Given the description of an element on the screen output the (x, y) to click on. 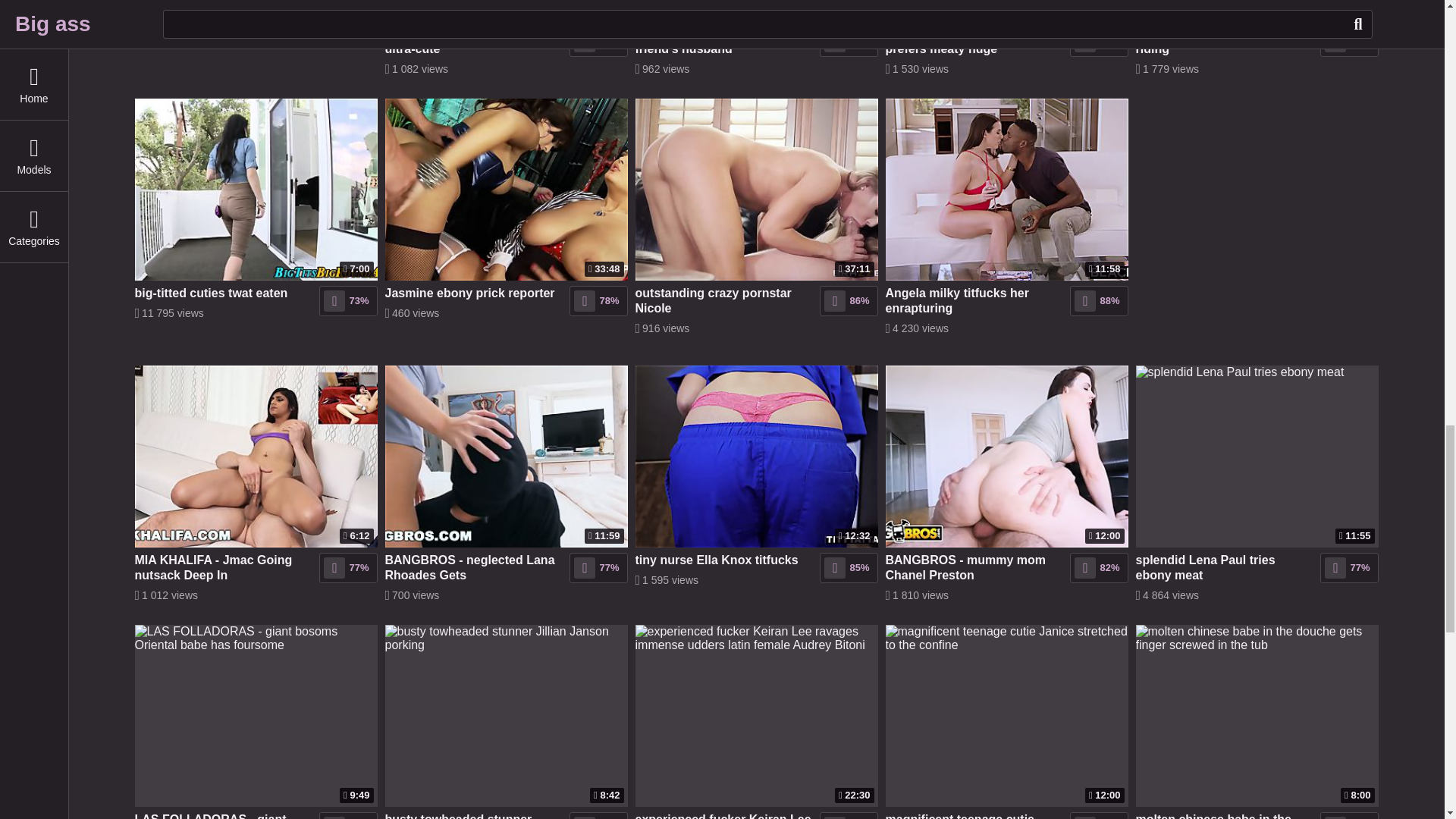
Married stud penetrates his ultra-cute (473, 40)
